Given the description of an element on the screen output the (x, y) to click on. 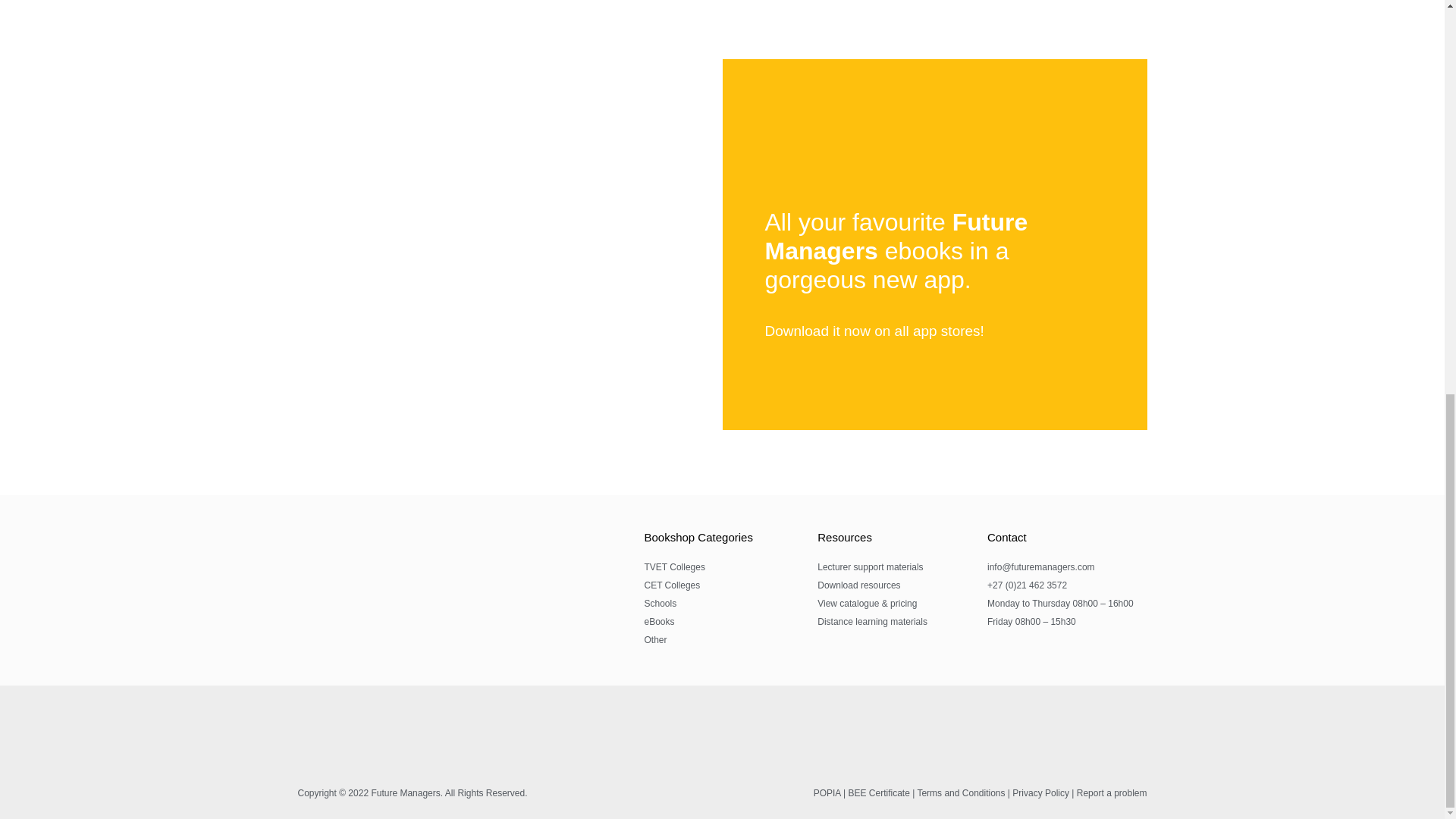
TVET Colleges (722, 566)
